Given the description of an element on the screen output the (x, y) to click on. 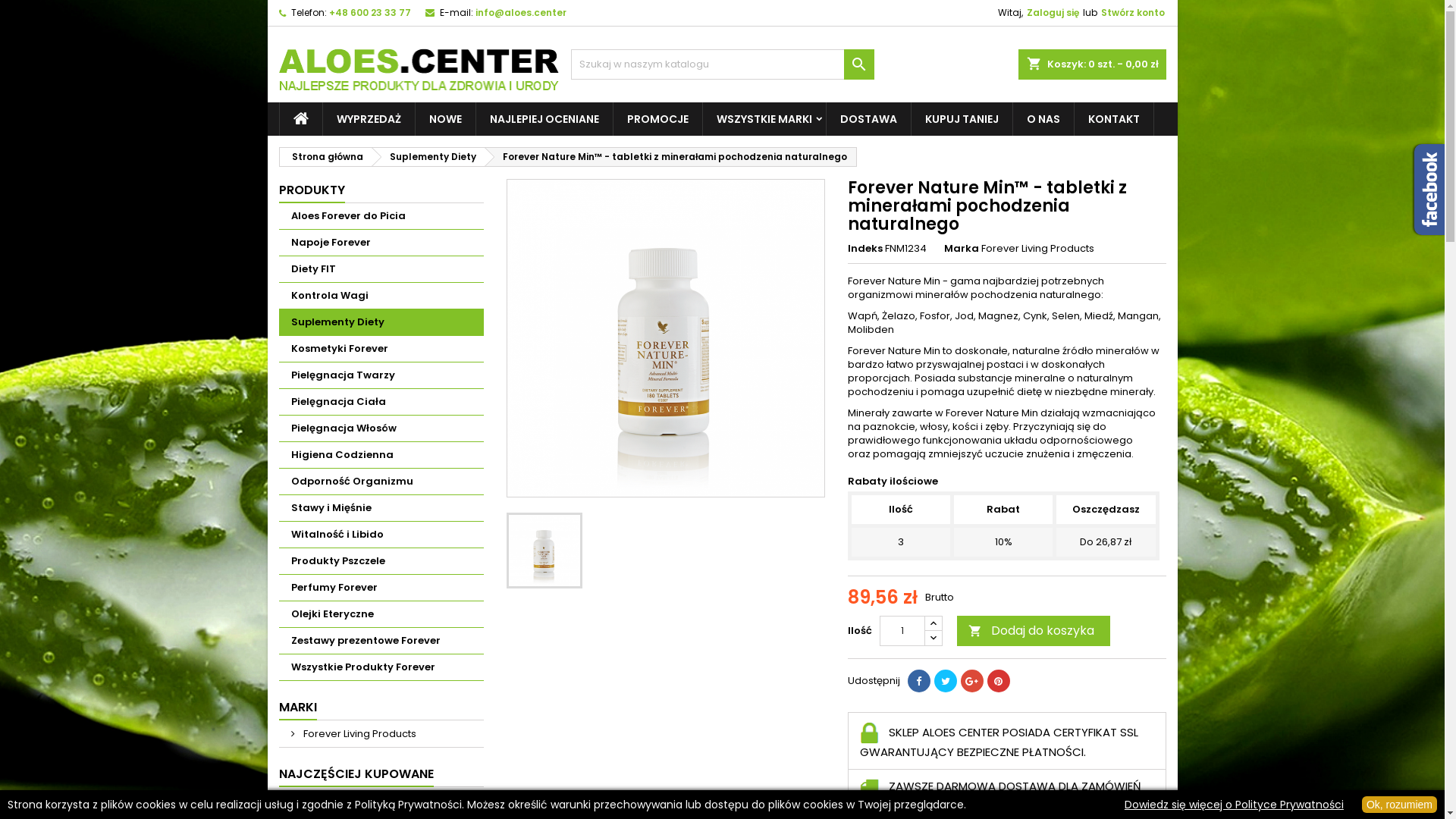
Produkty Pszczele Element type: text (381, 561)
Aloes Forever do Picia Element type: text (381, 216)
PROMOCJE Element type: text (656, 118)
MARKI Element type: text (297, 708)
Kosmetyki Forever Element type: text (381, 348)
Forever Living Products Element type: text (381, 733)
NAJLEPIEJ OCENIANE Element type: text (544, 118)
WSZYSTKIE MARKI Element type: text (763, 118)
Forever Living Products Element type: text (1037, 248)
KUPUJ TANIEJ Element type: text (961, 118)
info@aloes.center Element type: text (519, 12)
KONTAKT Element type: text (1112, 118)
Wszystkie Produkty Forever Element type: text (381, 667)
Pinterest Element type: hover (998, 680)
Ok, rozumiem Element type: text (1399, 804)
Diety FIT Element type: text (381, 269)
Tweetuj Element type: hover (945, 680)
Kontrola Wagi Element type: text (381, 295)
Google+ Element type: hover (971, 680)
Suplementy Diety Element type: text (428, 156)
Higiena Codzienna Element type: text (381, 455)
DOSTAWA Element type: text (868, 118)
Napoje Forever Element type: text (381, 242)
Suplementy Diety Element type: text (381, 322)
Olejki Eteryczne Element type: text (381, 614)
NOWE Element type: text (445, 118)
Zestawy prezentowe Forever Element type: text (381, 640)
Perfumy Forever Element type: text (381, 587)
O NAS Element type: text (1043, 118)
PRODUKTY Element type: text (312, 190)
